Given the description of an element on the screen output the (x, y) to click on. 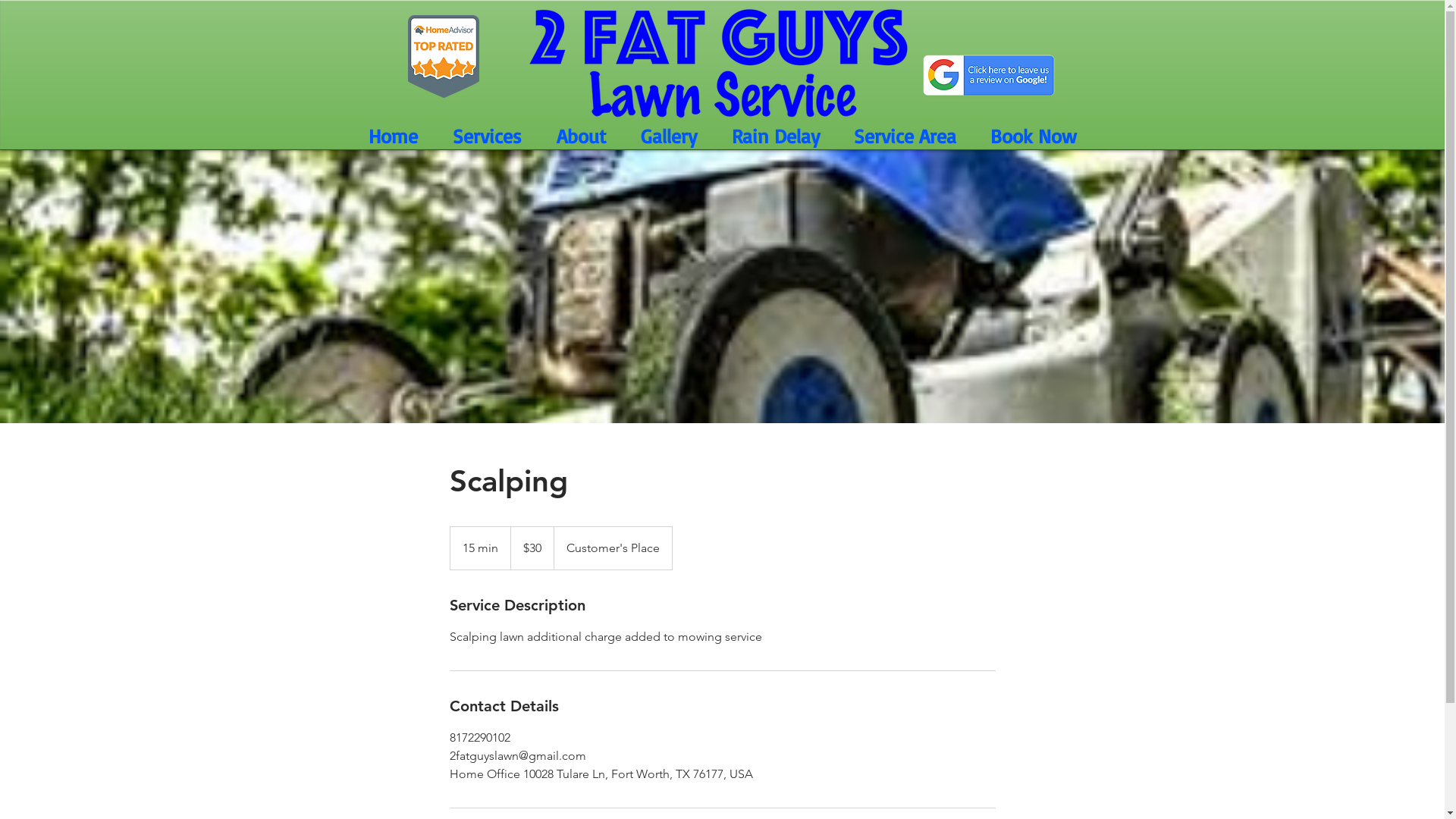
Services Element type: text (487, 134)
Service Area Element type: text (905, 134)
Home Element type: text (392, 134)
About Element type: text (580, 134)
Gallery Element type: text (668, 134)
Rain Delay Element type: text (775, 134)
Book Now Element type: text (1033, 134)
